Given the description of an element on the screen output the (x, y) to click on. 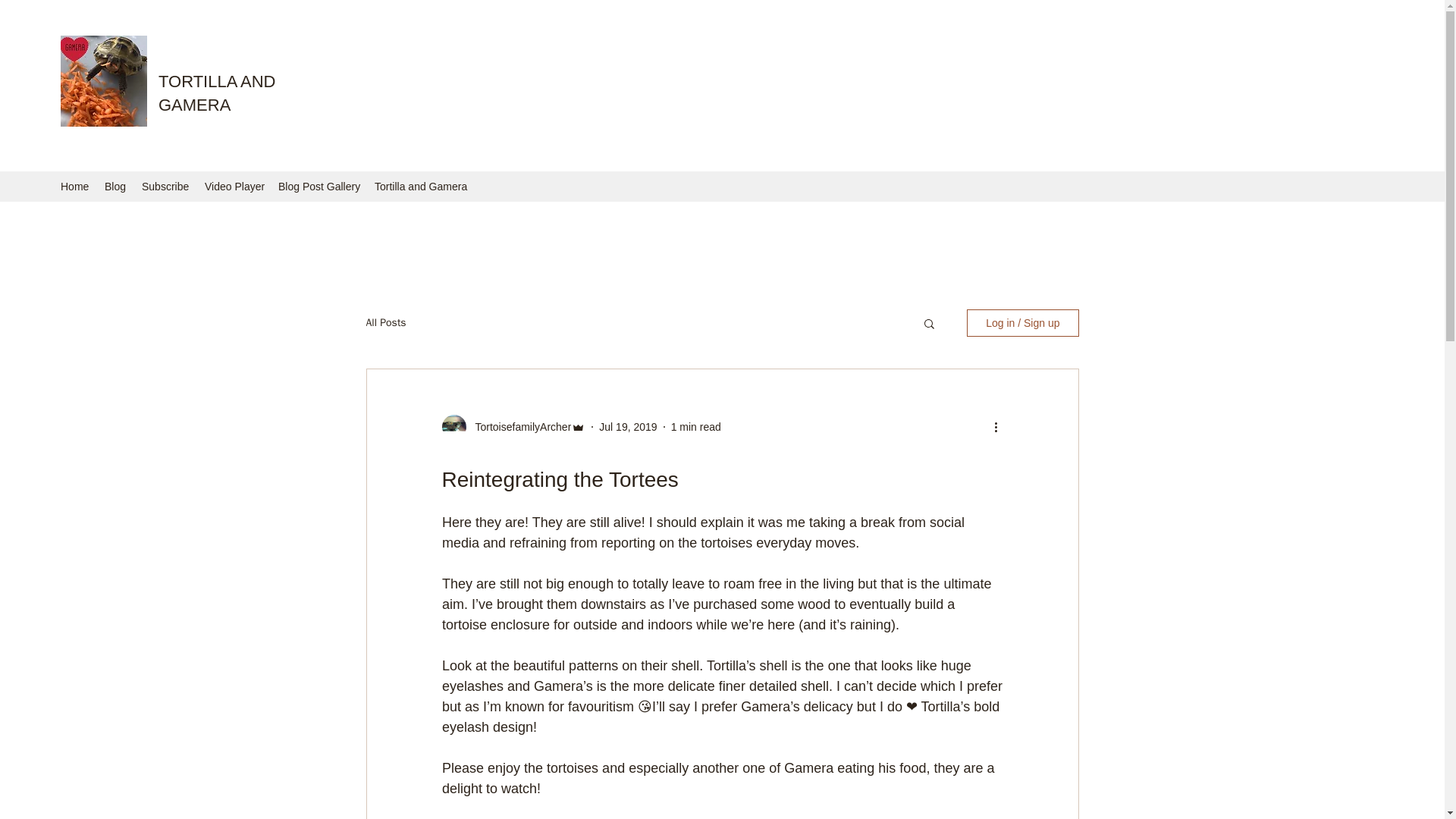
Video Player (233, 186)
Blog (115, 186)
Blog Post Gallery (318, 186)
TORTILLA AND GAMERA (216, 93)
1 min read (695, 426)
Subscribe (164, 186)
Jul 19, 2019 (627, 426)
All Posts (385, 323)
Tortilla and Gamera (420, 186)
TortoisefamilyArcher (517, 426)
